Given the description of an element on the screen output the (x, y) to click on. 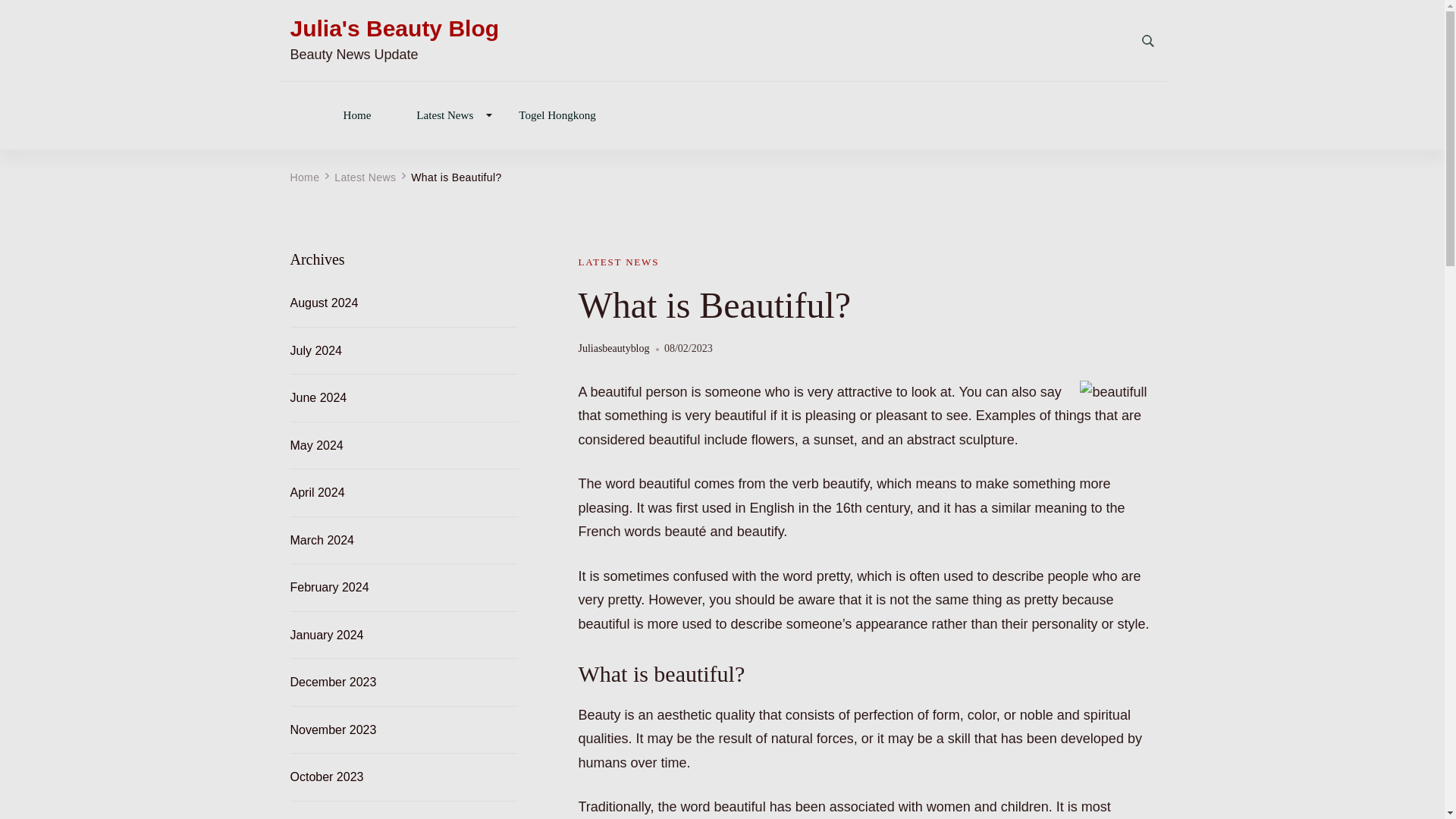
LATEST NEWS (618, 262)
What is Beautiful? (455, 177)
Latest News (444, 114)
Julia's Beauty Blog (394, 28)
Togel Hongkong (556, 114)
Juliasbeautyblog (613, 348)
Latest News (365, 177)
Home (356, 114)
Home (303, 177)
